Given the description of an element on the screen output the (x, y) to click on. 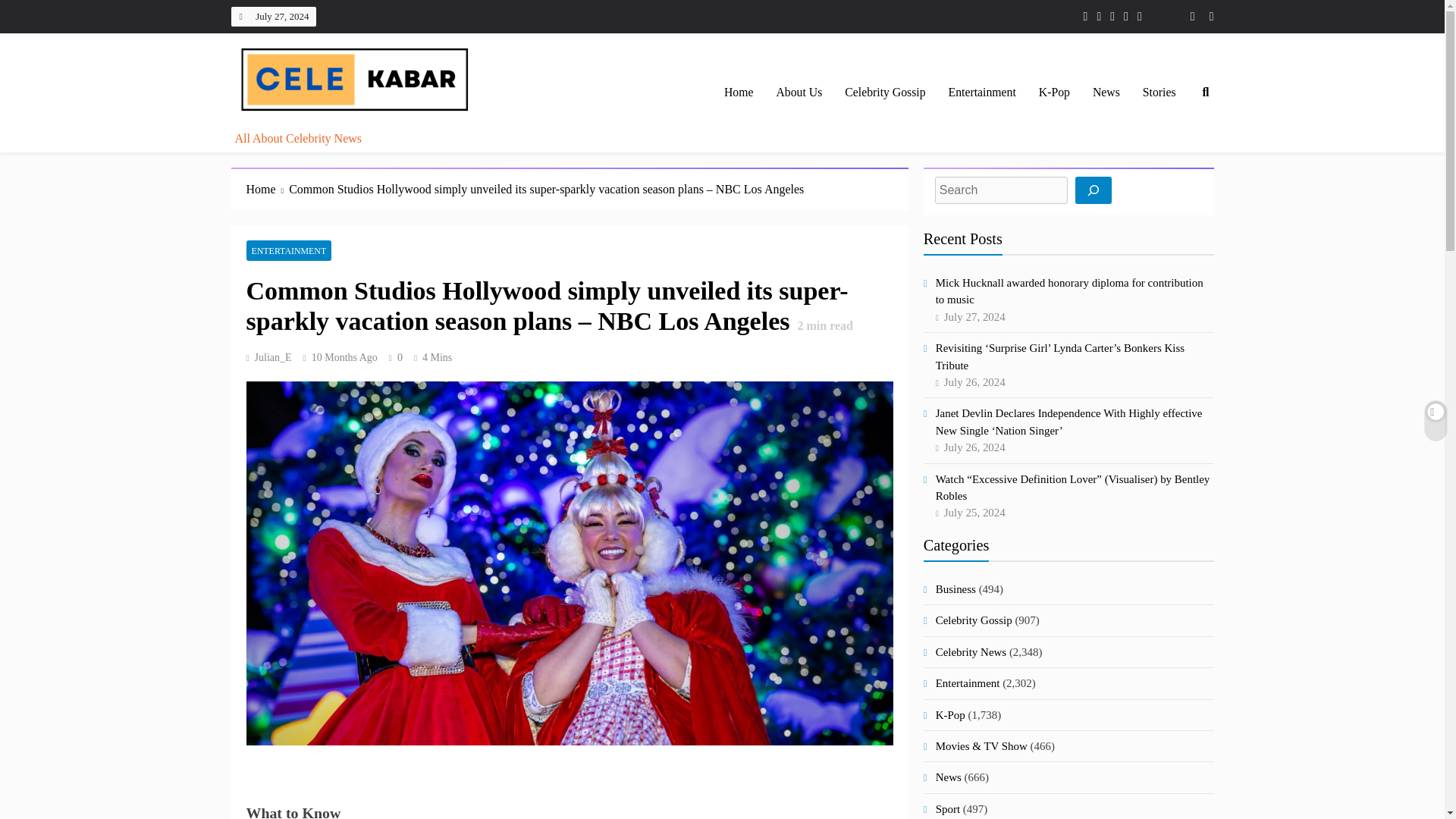
Entertainment (982, 92)
K-Pop (1054, 92)
Stories (1159, 92)
Home (267, 189)
About Us (798, 92)
Home (739, 92)
10 Months Ago (344, 357)
ENTERTAINMENT (288, 250)
Celebrity Gossip (884, 92)
News (1106, 92)
